Given the description of an element on the screen output the (x, y) to click on. 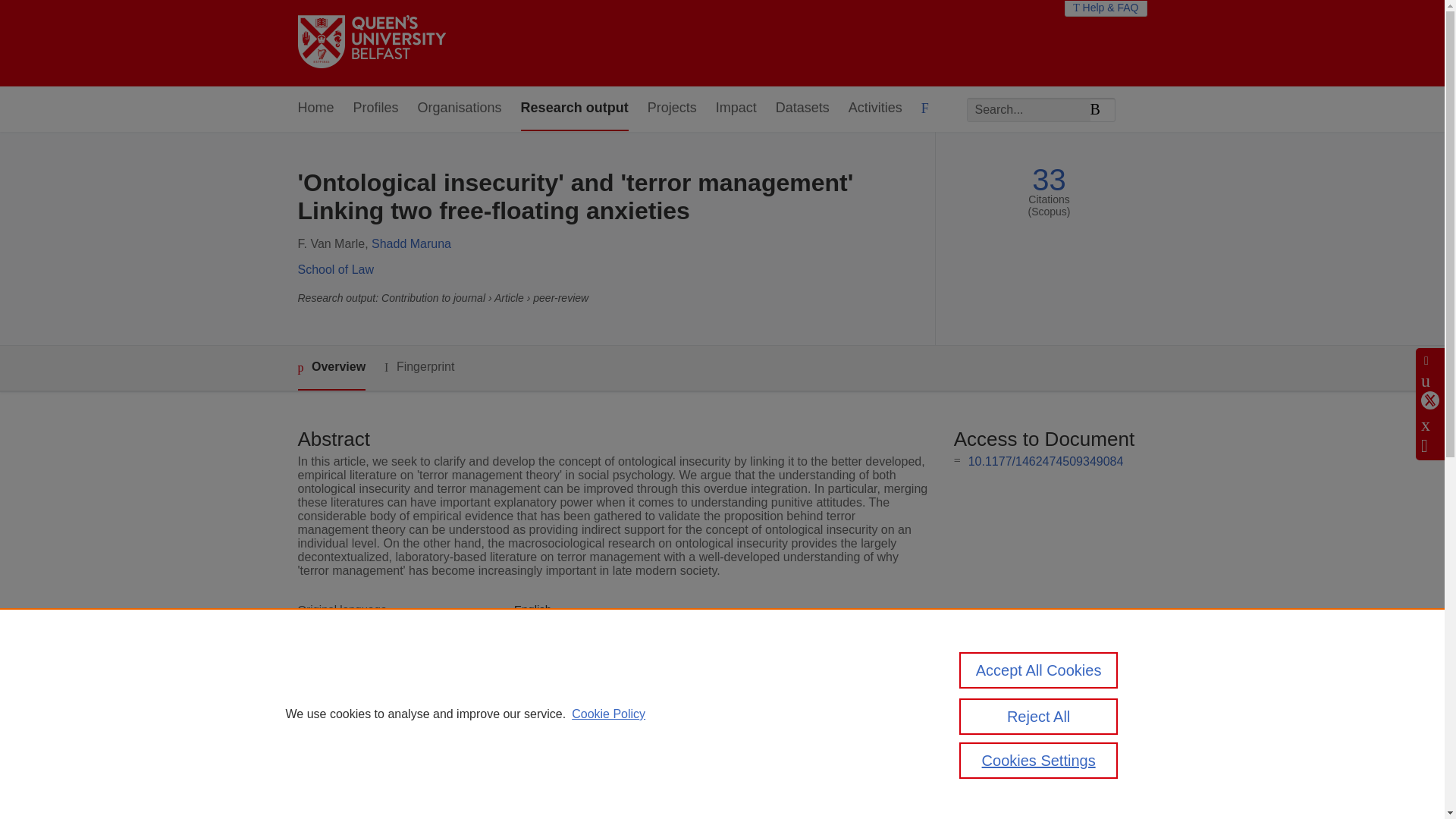
Datasets (802, 108)
Projects (672, 108)
Research output (574, 108)
Shadd Maruna (411, 243)
Home (315, 108)
Overview (331, 367)
Queen's University Belfast Home (371, 43)
Impact (736, 108)
Profiles (375, 108)
Fingerprint (419, 367)
Organisations (459, 108)
33 (1048, 180)
School of Law (335, 269)
Activities (875, 108)
